Given the description of an element on the screen output the (x, y) to click on. 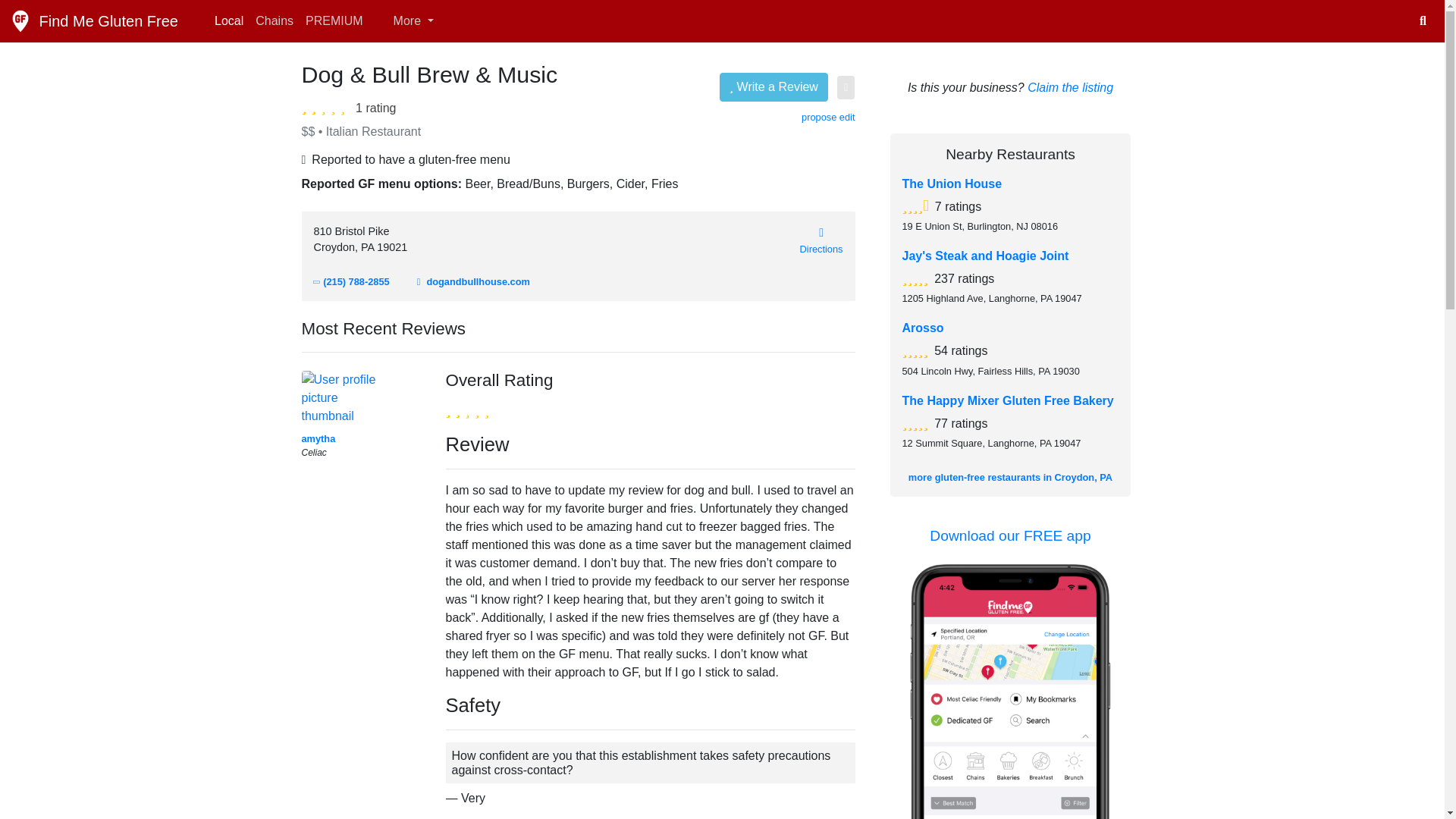
2.0 star rating (325, 105)
Claim the listing (1070, 87)
5 star rating (915, 276)
PREMIUM (334, 20)
Chains (273, 20)
2 star rating (467, 408)
more gluten-free restaurants in Croydon, PA (1010, 477)
Directions (821, 239)
Arosso (922, 327)
5 star rating (915, 421)
Write a Review (773, 86)
Download our FREE app (1010, 535)
Find Me Gluten Free (94, 20)
propose edit (828, 116)
5 star rating (915, 348)
